Given the description of an element on the screen output the (x, y) to click on. 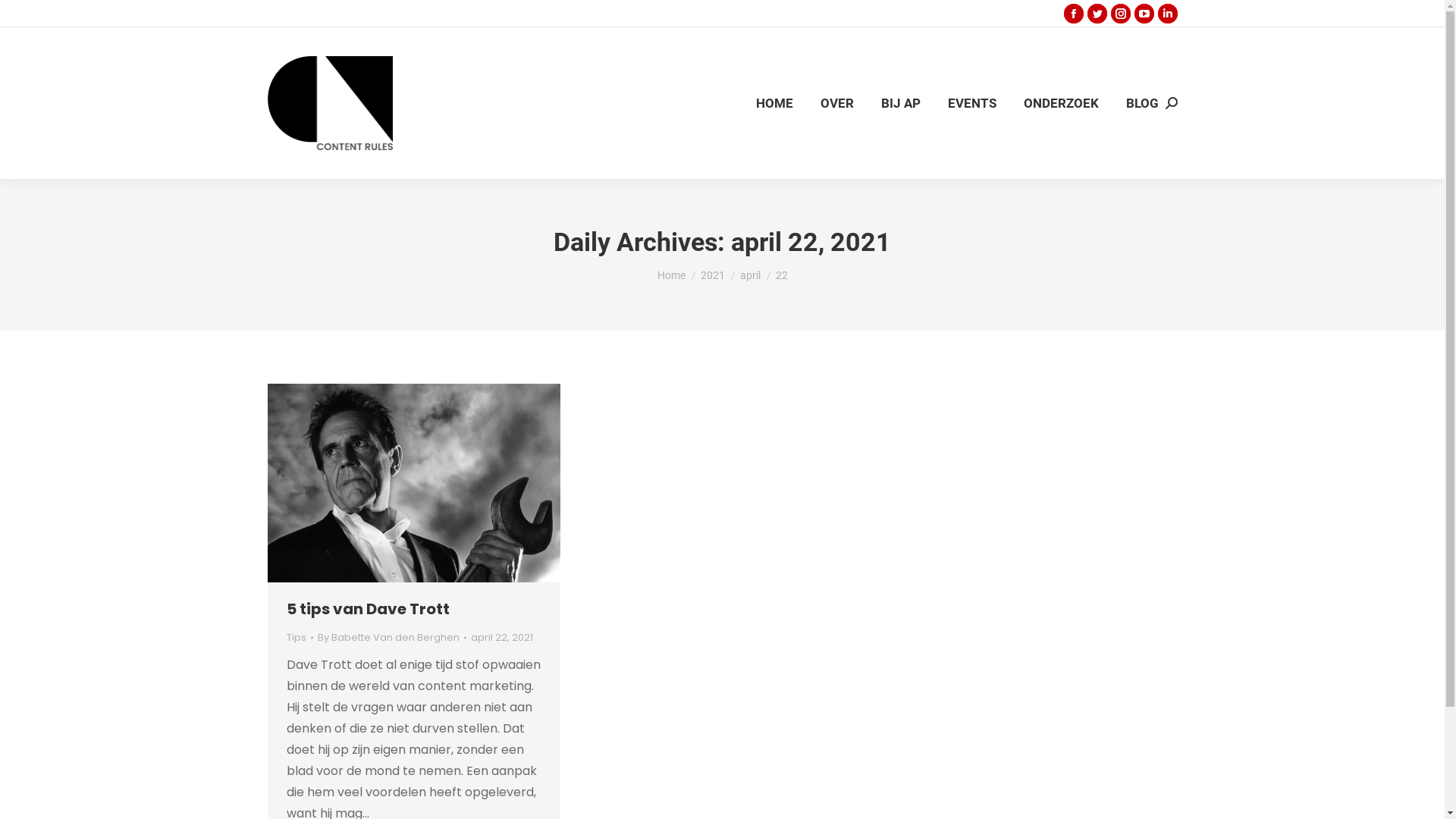
ONDERZOEK Element type: text (1060, 102)
YouTube page opens in new window Element type: text (1144, 13)
Go! Element type: text (23, 16)
By Babette Van den Berghen Element type: text (390, 636)
BLOG Element type: text (1141, 102)
OVER Element type: text (836, 102)
Home Element type: text (670, 275)
2021 Element type: text (712, 275)
Linkedin page opens in new window Element type: text (1166, 13)
HOME Element type: text (773, 102)
Twitter page opens in new window Element type: text (1097, 13)
EVENTS Element type: text (971, 102)
april 22, 2021 Element type: text (501, 636)
Instagram page opens in new window Element type: text (1119, 13)
Facebook page opens in new window Element type: text (1072, 13)
5 tips van Dave Trott Element type: text (367, 608)
Tips Element type: text (296, 637)
Blog2_foto_1 Element type: hover (412, 482)
april Element type: text (750, 275)
BIJ AP Element type: text (900, 102)
